Given the description of an element on the screen output the (x, y) to click on. 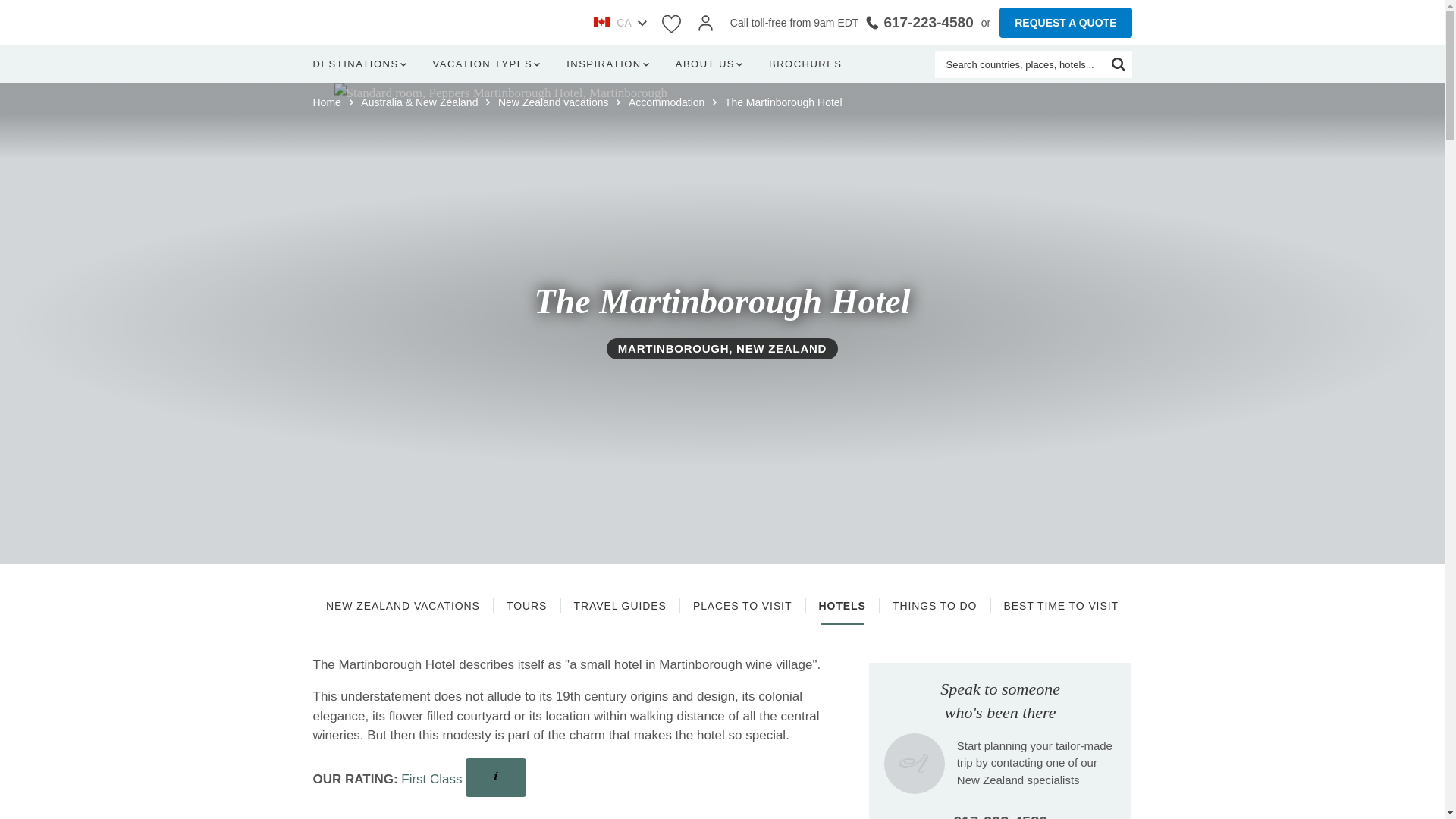
CA (619, 22)
REQUEST A QUOTE (1064, 22)
DESTINATIONS (363, 64)
